Given the description of an element on the screen output the (x, y) to click on. 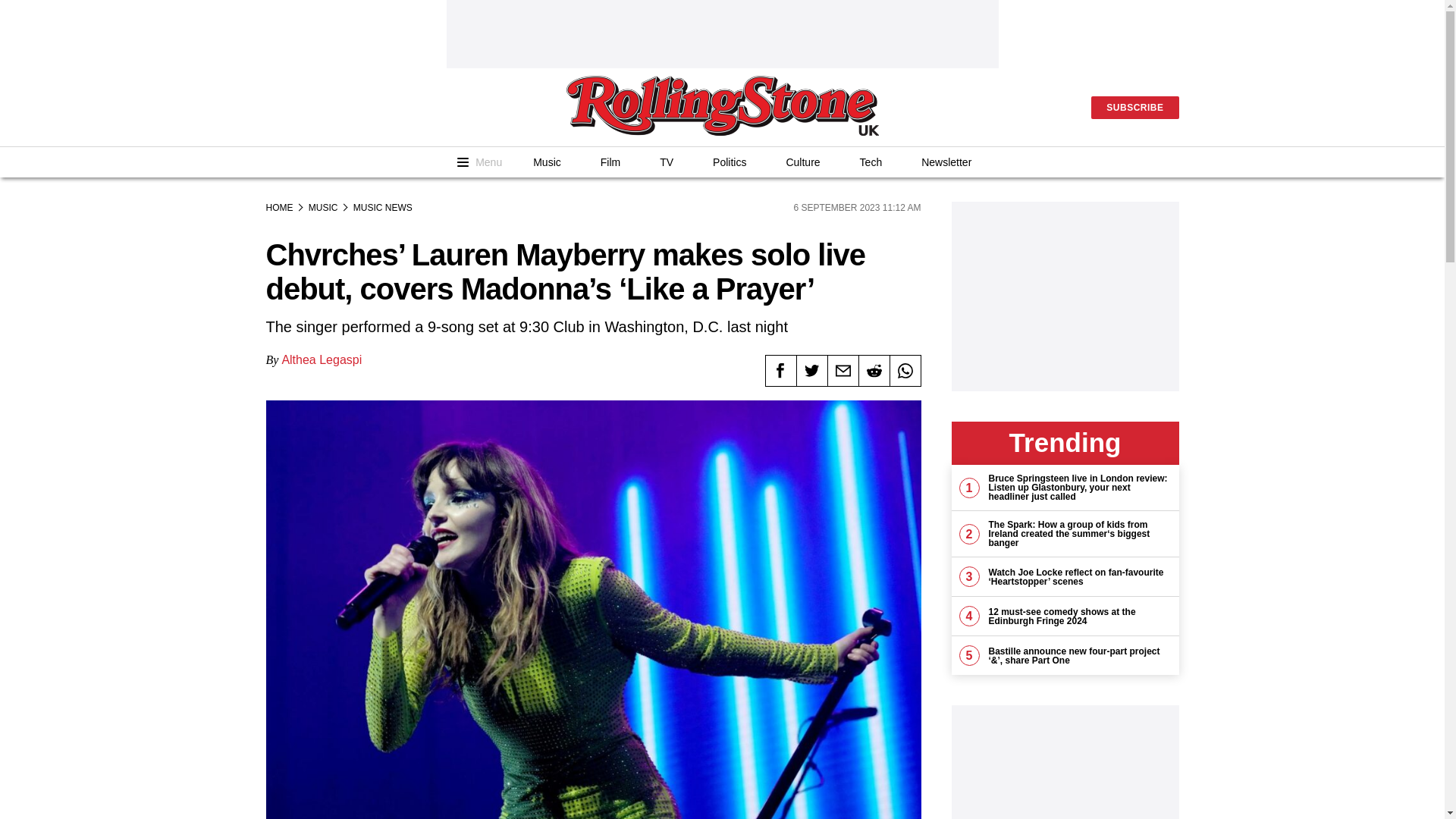
Culture (802, 162)
TV (666, 162)
3rd party ad content (1063, 762)
Home (721, 107)
Tech (871, 162)
Film (610, 162)
Politics (729, 162)
3rd party ad content (1063, 296)
3rd party ad content (721, 33)
Newsletter (946, 162)
Music (546, 162)
SUBSCRIBE (1134, 107)
